Given the description of an element on the screen output the (x, y) to click on. 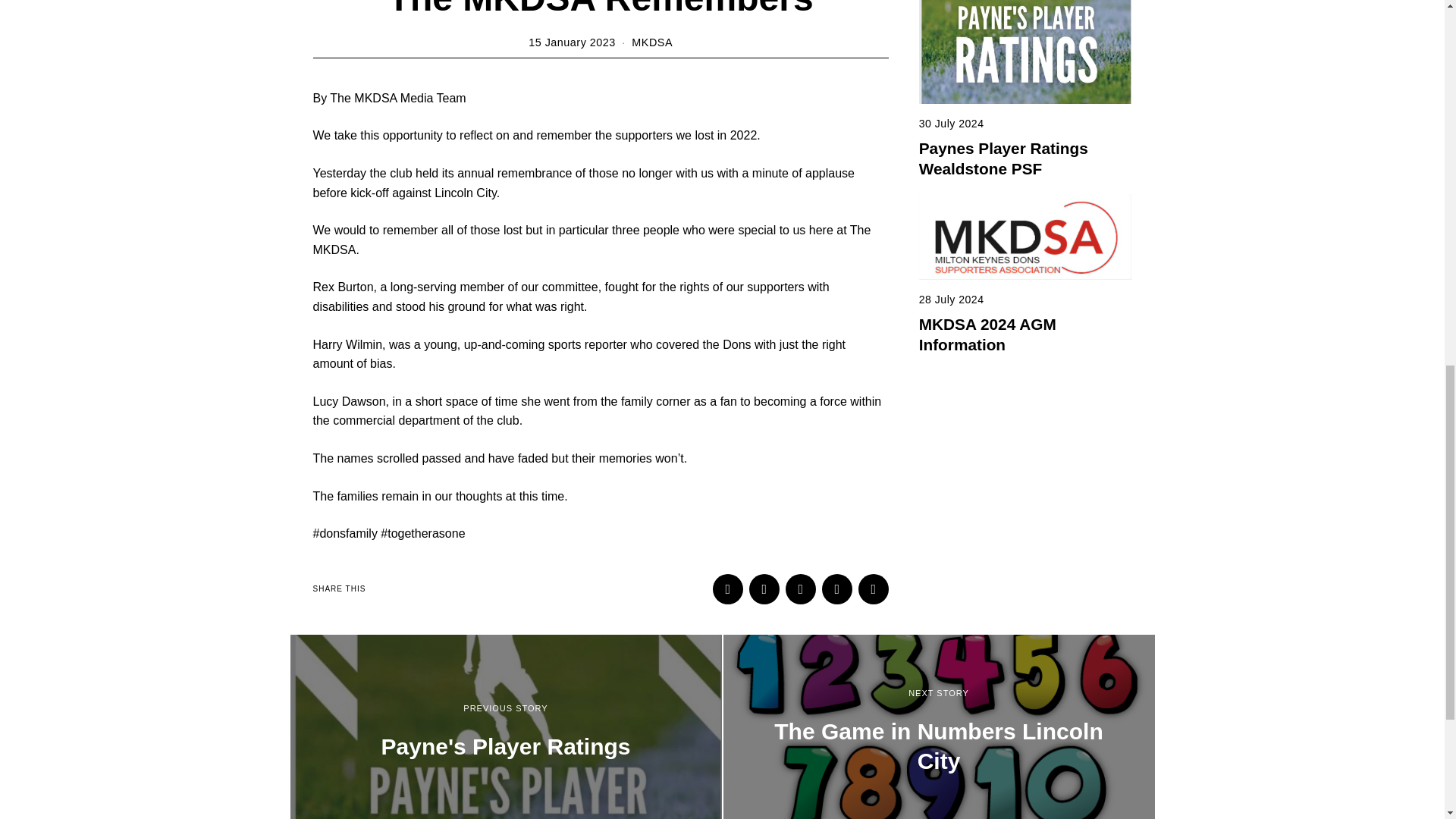
Paynes Player Ratings Wealdstone PSF (1002, 158)
MKDSA (651, 42)
